Given the description of an element on the screen output the (x, y) to click on. 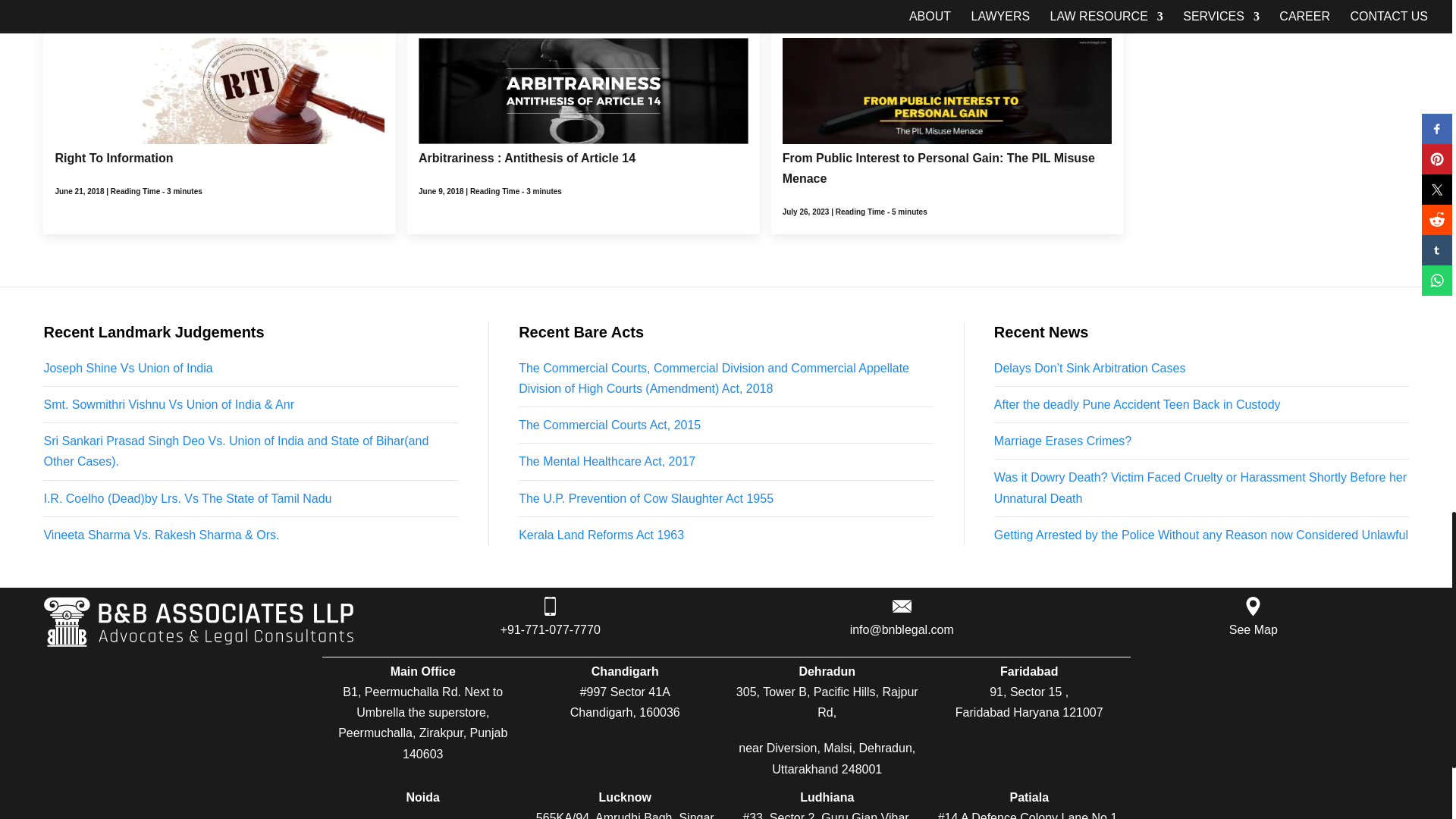
Arbitrariness : Antithesis of Article 14 (526, 157)
From Public Interest to Personal Gain: The PIL Misuse Menace (938, 168)
Right To Information (114, 157)
